Given the description of an element on the screen output the (x, y) to click on. 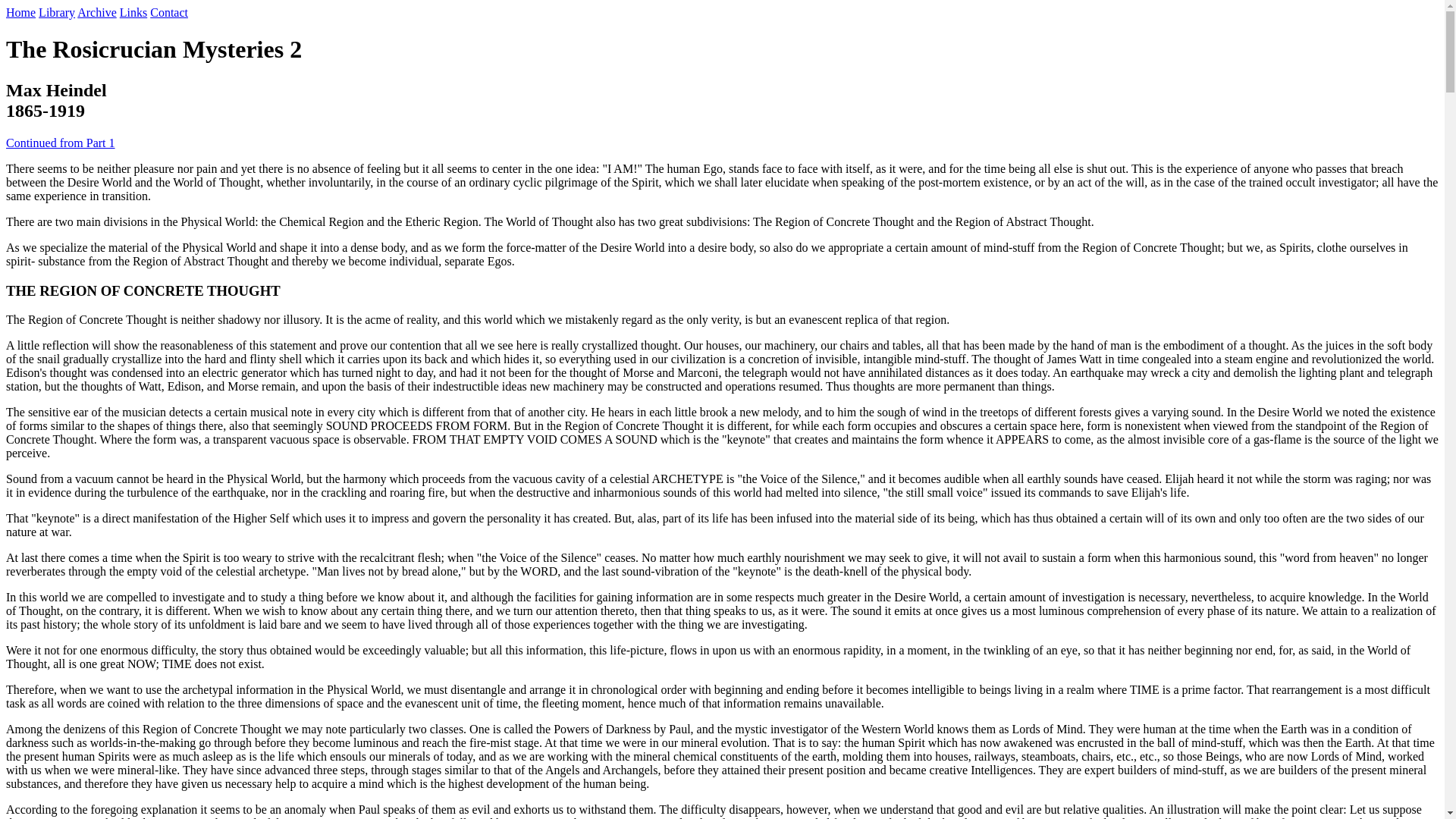
Home (19, 11)
Links (133, 11)
Library (57, 11)
Continued from Part 1 (60, 142)
Contact (168, 11)
Archive (96, 11)
